Given the description of an element on the screen output the (x, y) to click on. 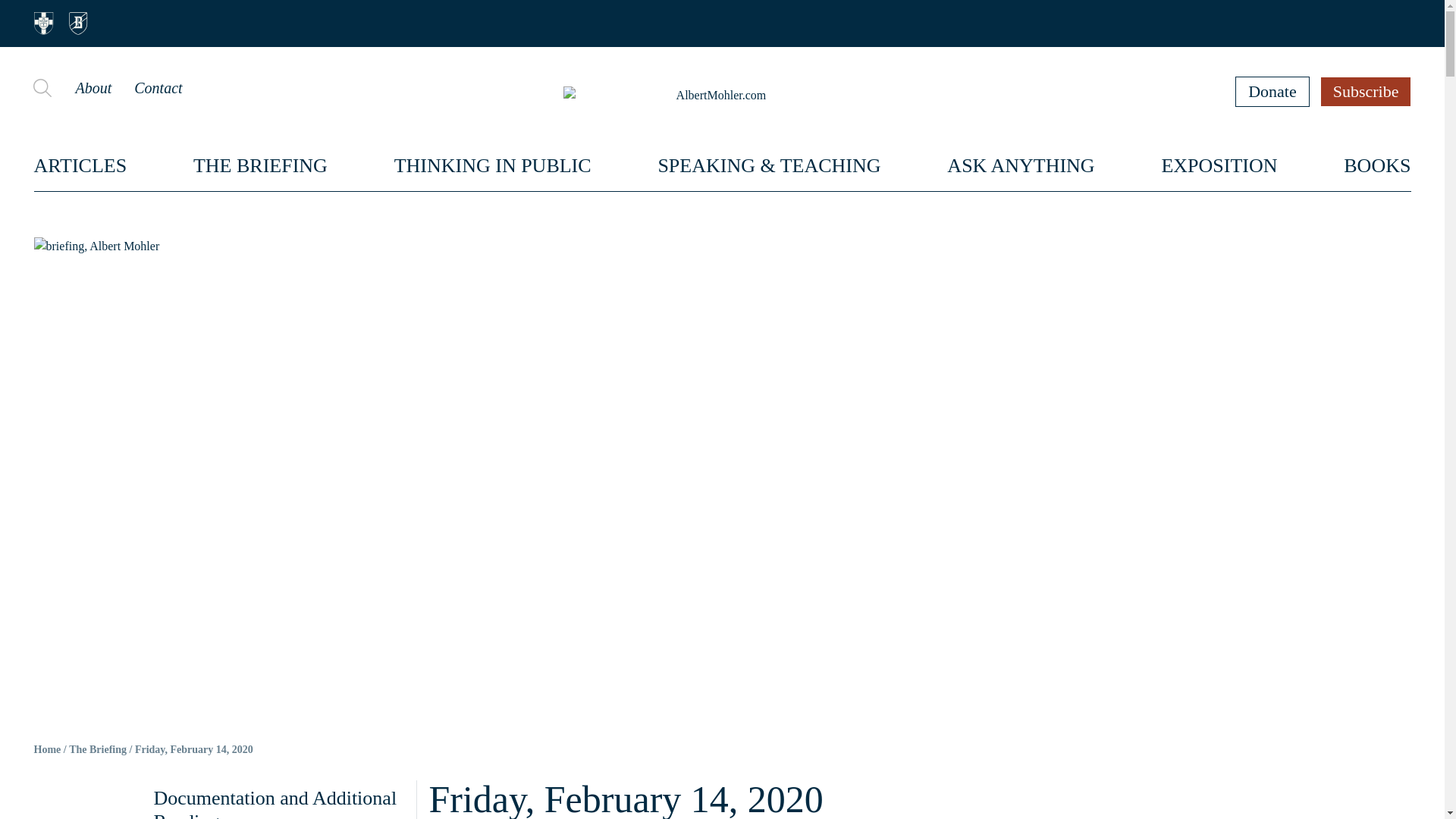
BOOKS (1376, 165)
Contact (157, 87)
THE BRIEFING (260, 165)
ARTICLES (79, 165)
About (93, 87)
Subscribe (1366, 91)
The Briefing (97, 749)
Donate (1272, 91)
EXPOSITION (1218, 165)
THINKING IN PUBLIC (492, 165)
